Given the description of an element on the screen output the (x, y) to click on. 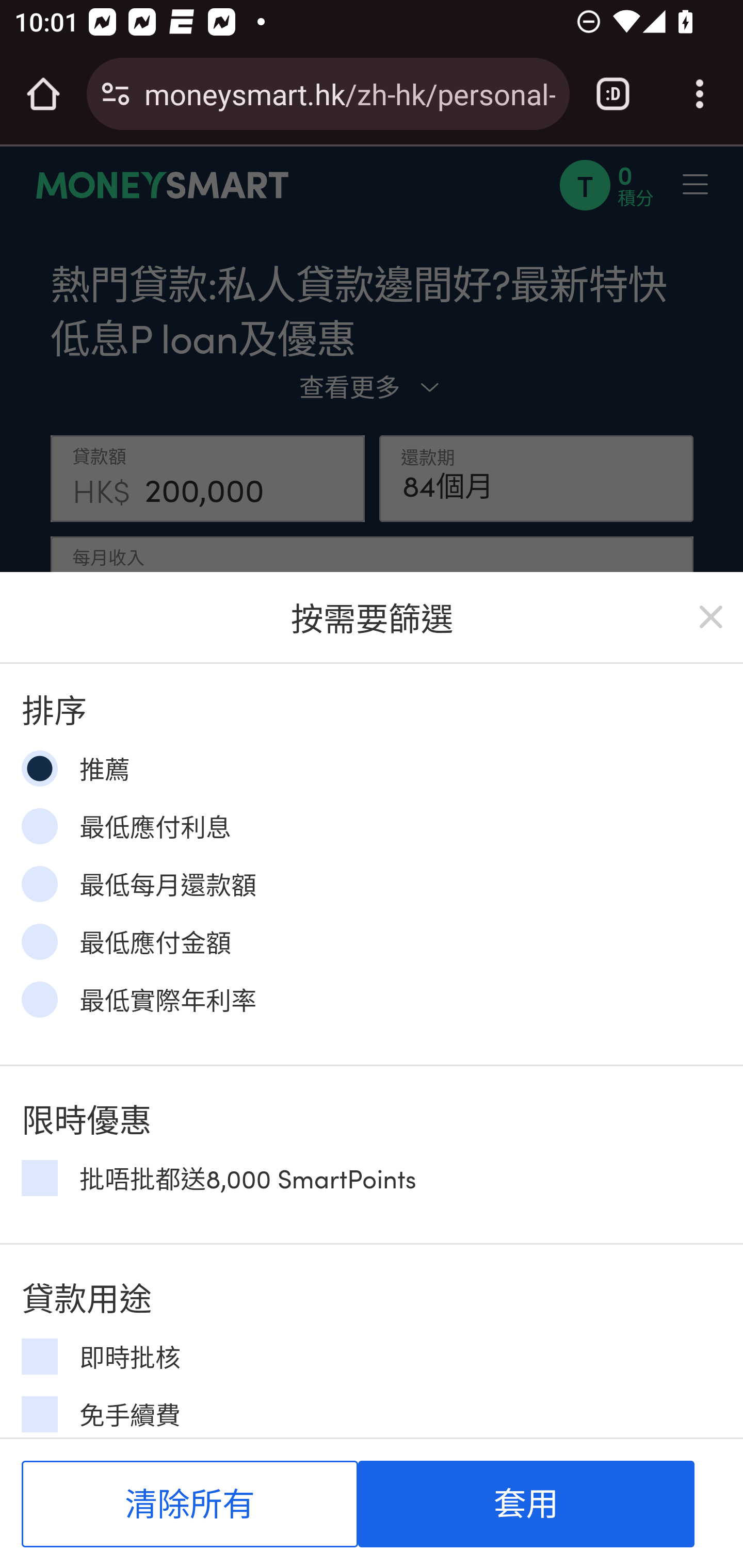
Open the home page (43, 93)
Connection is secure (115, 93)
Switch or close tabs (612, 93)
Customize and control Google Chrome (699, 93)
推薦 (39, 768)
最低應付利息 (39, 825)
最低每月還款額 (39, 883)
最低應付金額 (39, 940)
最低實際年利率 (39, 998)
批唔批都送8,000 SmartPoints (39, 1177)
即時批核 (39, 1356)
免手續費 (39, 1414)
清除所有 (189, 1504)
套用 (525, 1504)
